Given the description of an element on the screen output the (x, y) to click on. 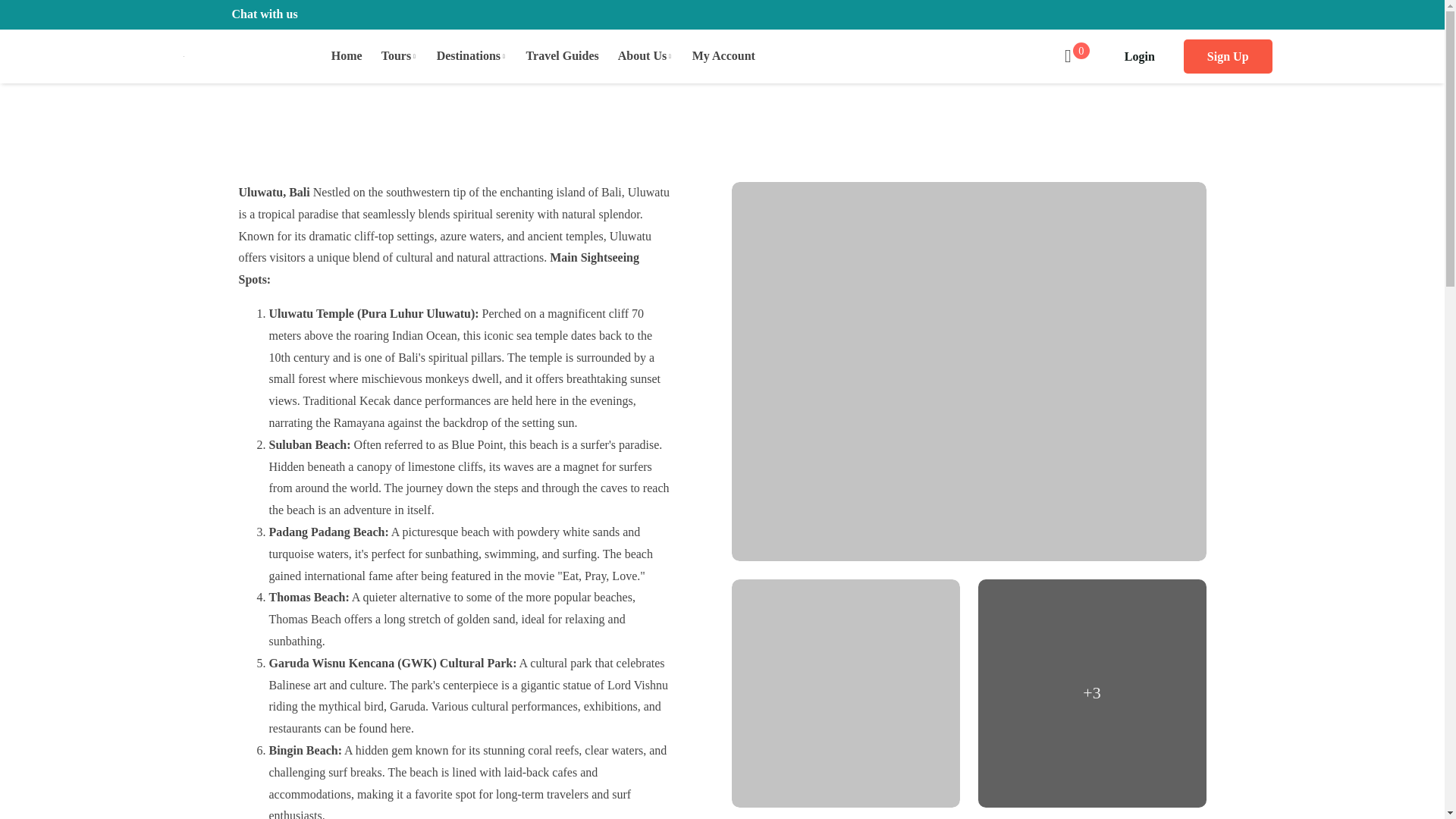
Destinations (461, 56)
Login (1138, 56)
My Account (713, 56)
Home (337, 56)
Tours (389, 56)
Sign Up (1227, 56)
Tours (389, 56)
Chat with us (264, 14)
Destinations (461, 56)
Travel Guides (552, 56)
